Given the description of an element on the screen output the (x, y) to click on. 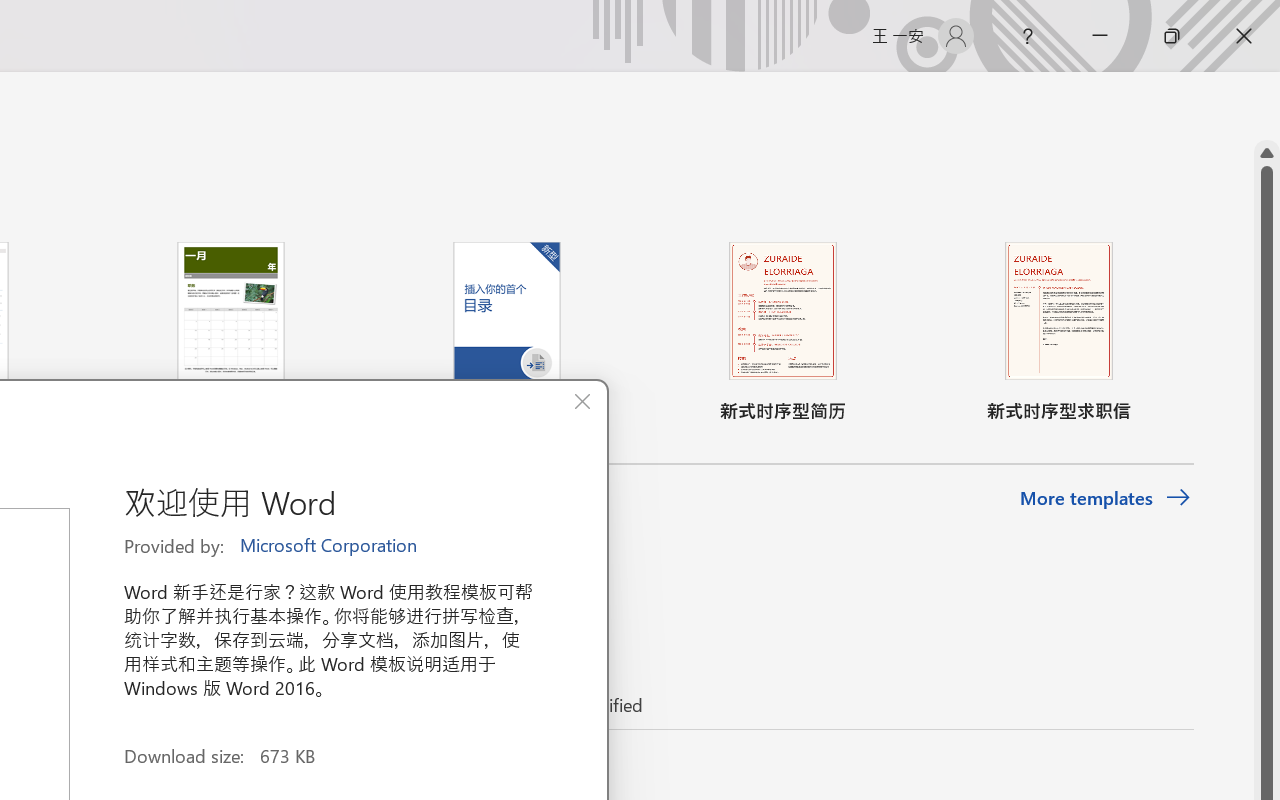
Unpin this item from the list (480, 770)
More templates (1105, 498)
Microsoft Corporation (330, 546)
Line up (1267, 153)
